Given the description of an element on the screen output the (x, y) to click on. 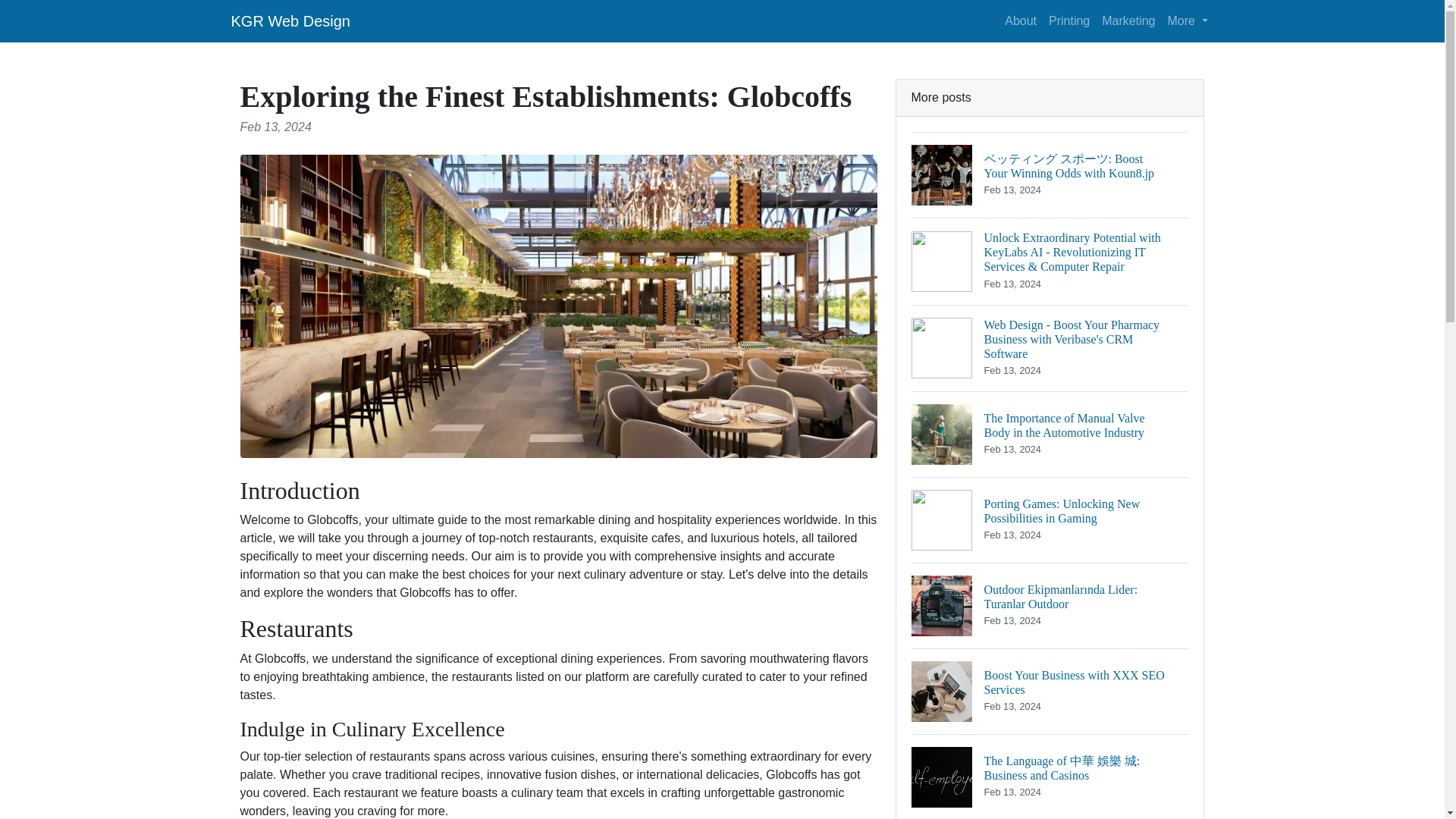
KGR Web Design (1050, 690)
Marketing (289, 20)
More (1128, 20)
Printing (1187, 20)
About (1069, 20)
